Given the description of an element on the screen output the (x, y) to click on. 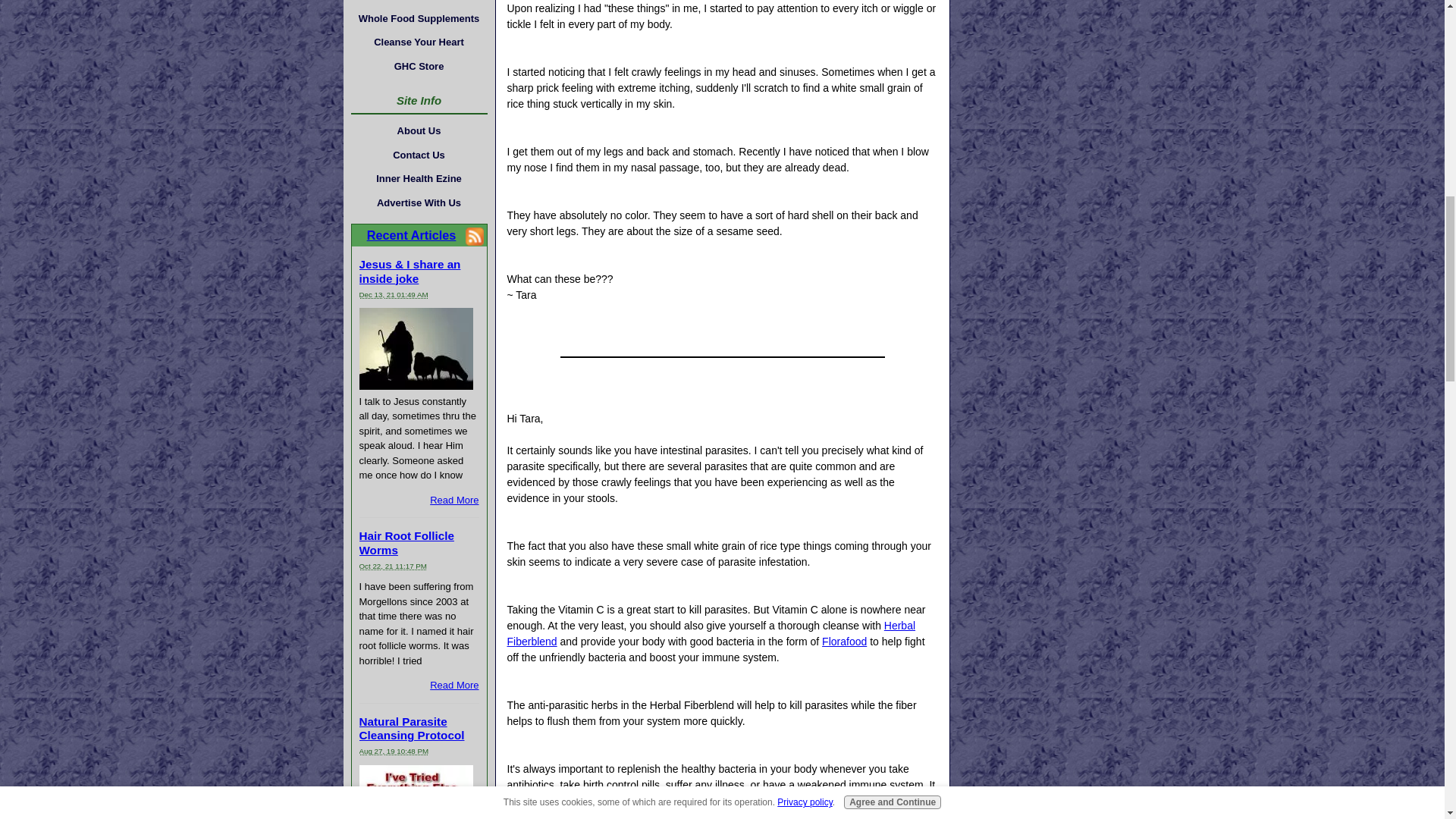
Herbal Fiberblend (710, 633)
2021-10-22T23:17:58-0400 (392, 565)
About Us (418, 130)
2021-12-13T01:49:21-0500 (393, 294)
Inner Health Ezine (418, 178)
Nutritional Supplements (418, 2)
Cleanse Your Heart (418, 42)
2019-08-27T22:48:39-0400 (394, 750)
Recent Articles (411, 234)
Florafood (844, 641)
GHC Store (418, 65)
Whole Food Supplements (418, 18)
Advertise With Us (418, 201)
Contact Us (418, 155)
